Given the description of an element on the screen output the (x, y) to click on. 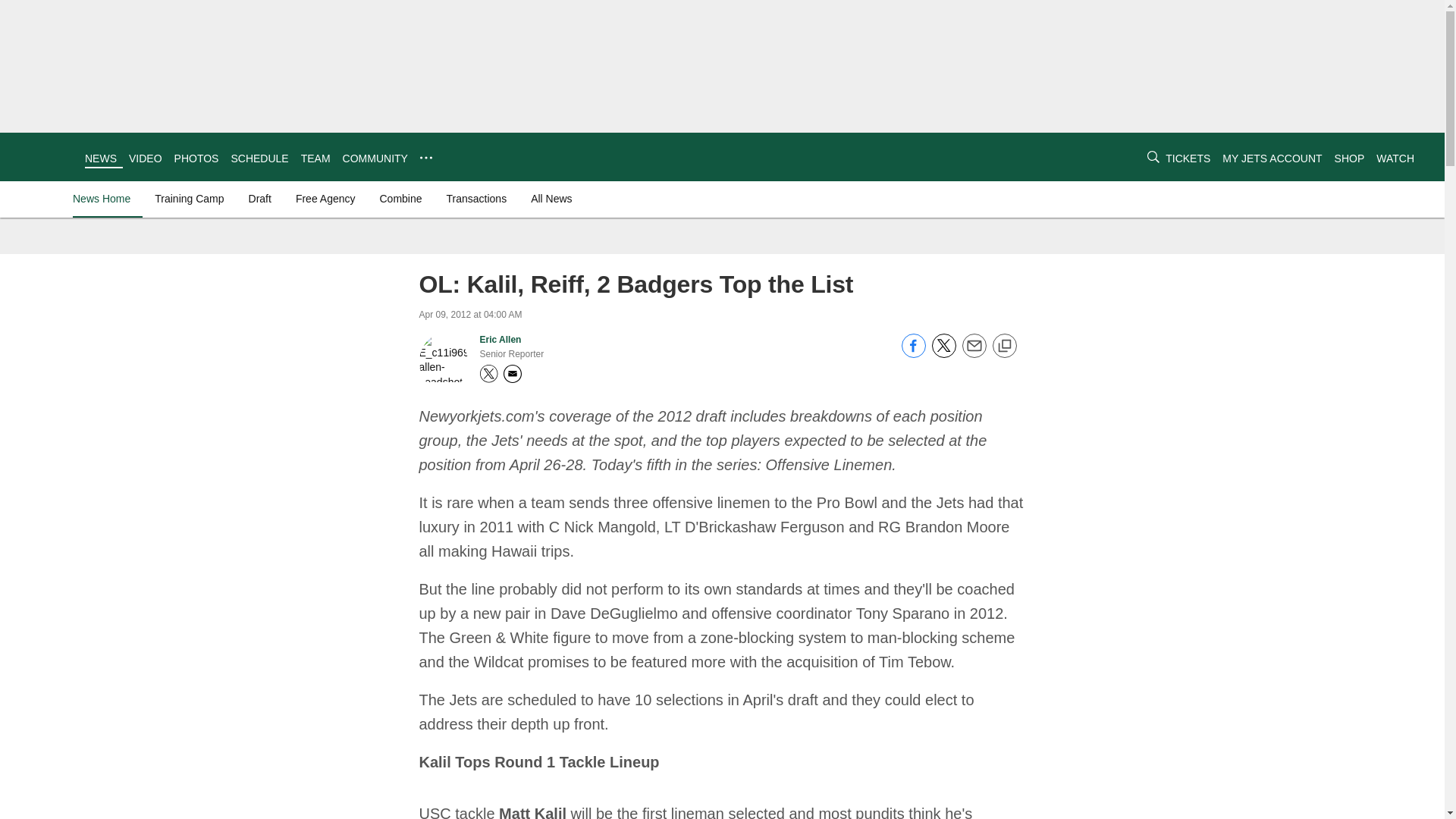
VIDEO (145, 158)
... (426, 157)
NEWS (100, 158)
Eric Allen (500, 339)
TEAM (315, 158)
Transactions (477, 198)
TICKETS (1187, 158)
Training Camp (189, 198)
SCHEDULE (259, 158)
COMMUNITY (374, 158)
